Given the description of an element on the screen output the (x, y) to click on. 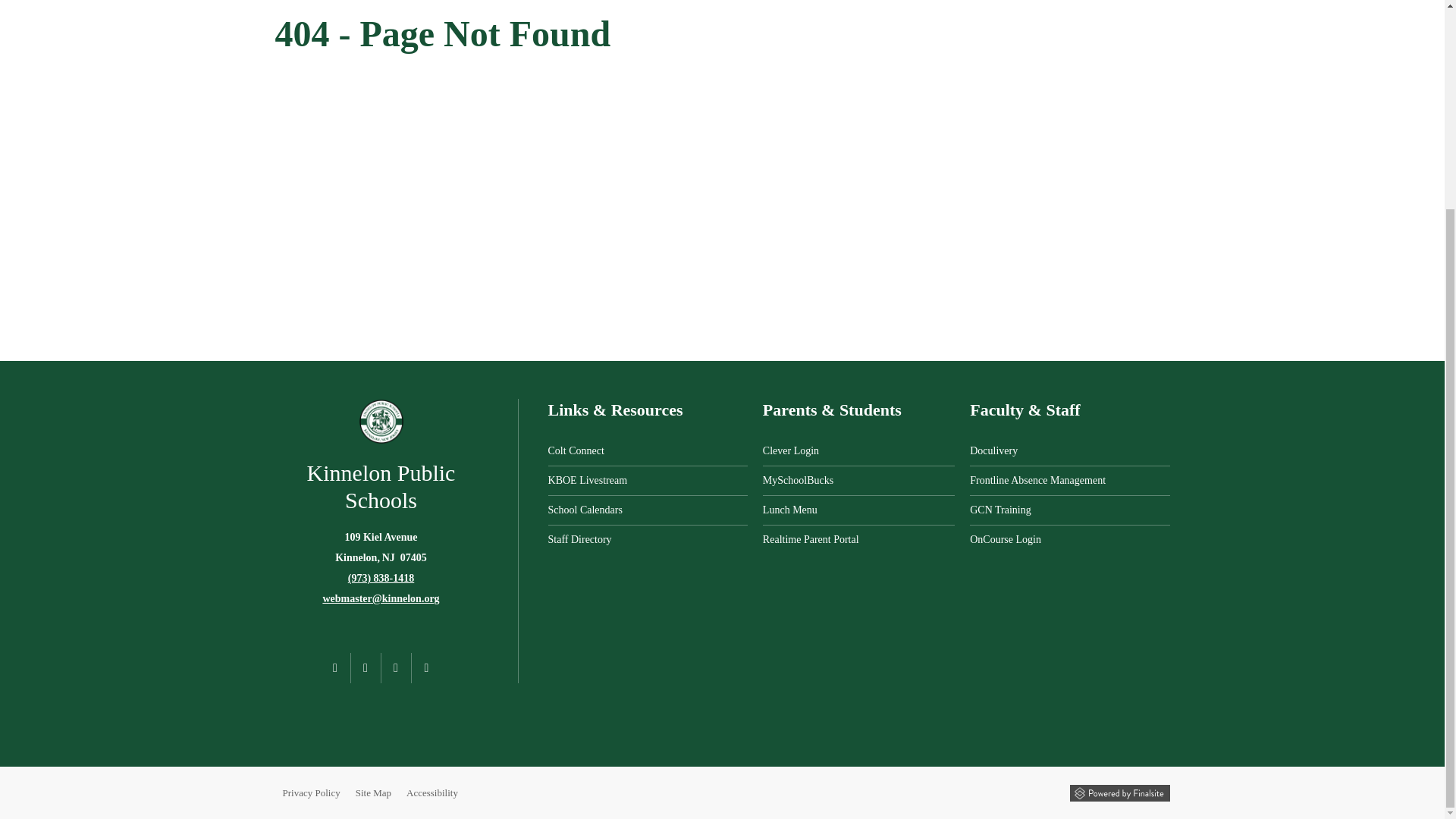
Powered by Finalsite opens in a new window (1118, 791)
Email (380, 598)
